Given the description of an element on the screen output the (x, y) to click on. 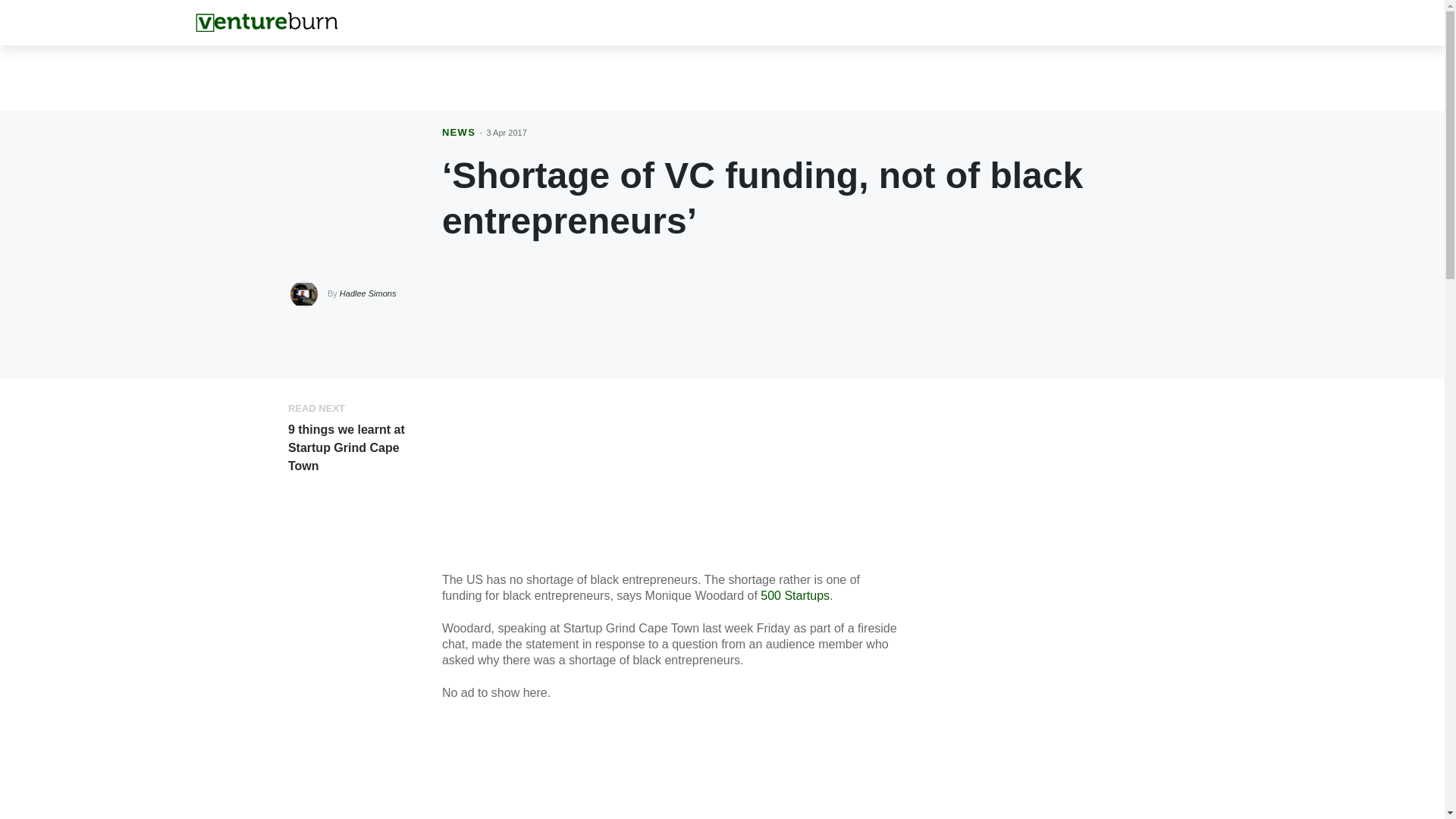
9 things we learnt at Startup Grind Cape Town (346, 447)
500 Startups (794, 594)
NEWS (459, 132)
Hadlee Simons (367, 293)
Home (266, 21)
3 Apr 2017 (506, 132)
